Given the description of an element on the screen output the (x, y) to click on. 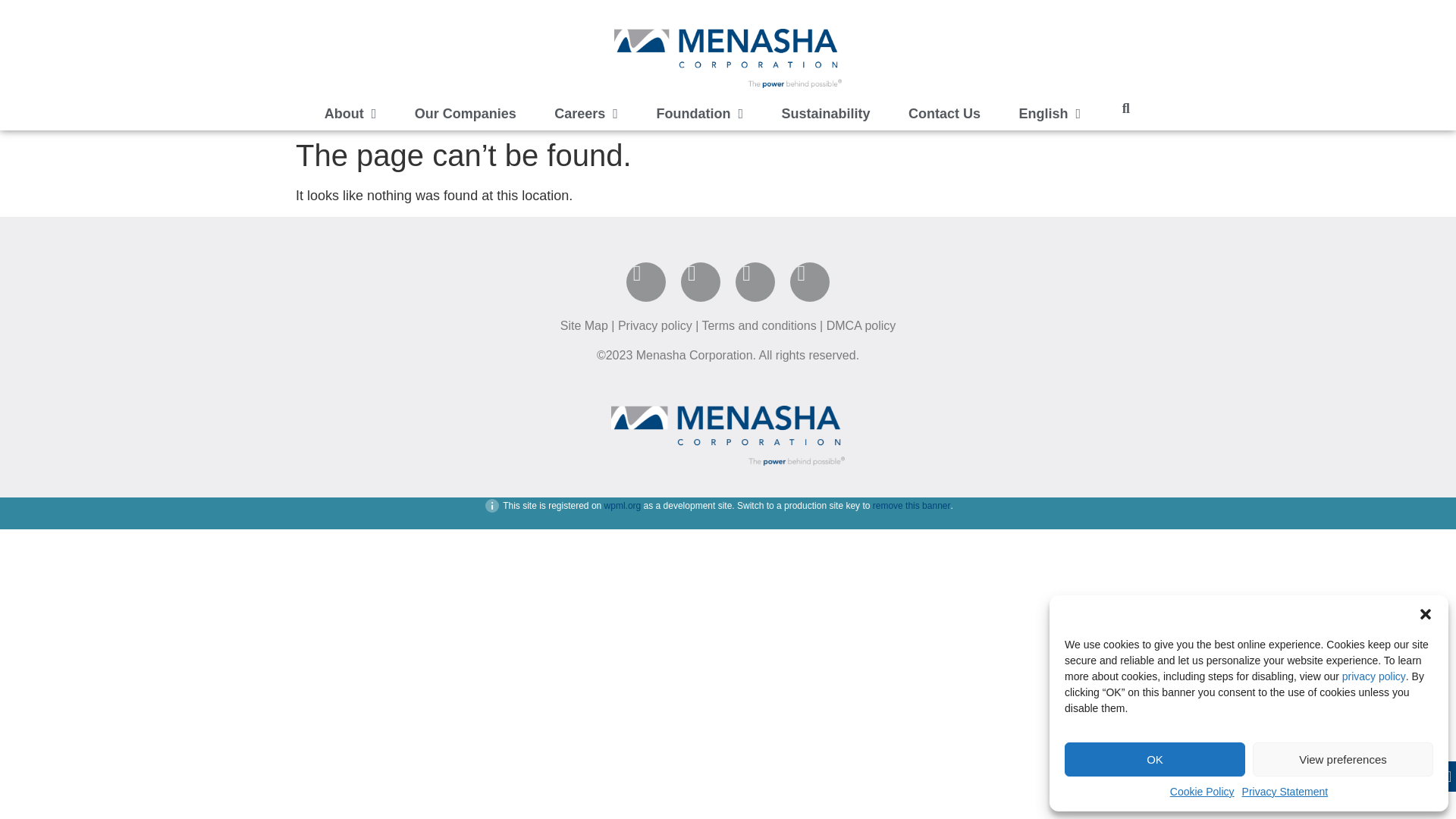
Careers (586, 113)
Menasha Corp logo-and-tagline-full color (727, 57)
English (1048, 113)
Our Companies (464, 113)
About (349, 113)
